Given the description of an element on the screen output the (x, y) to click on. 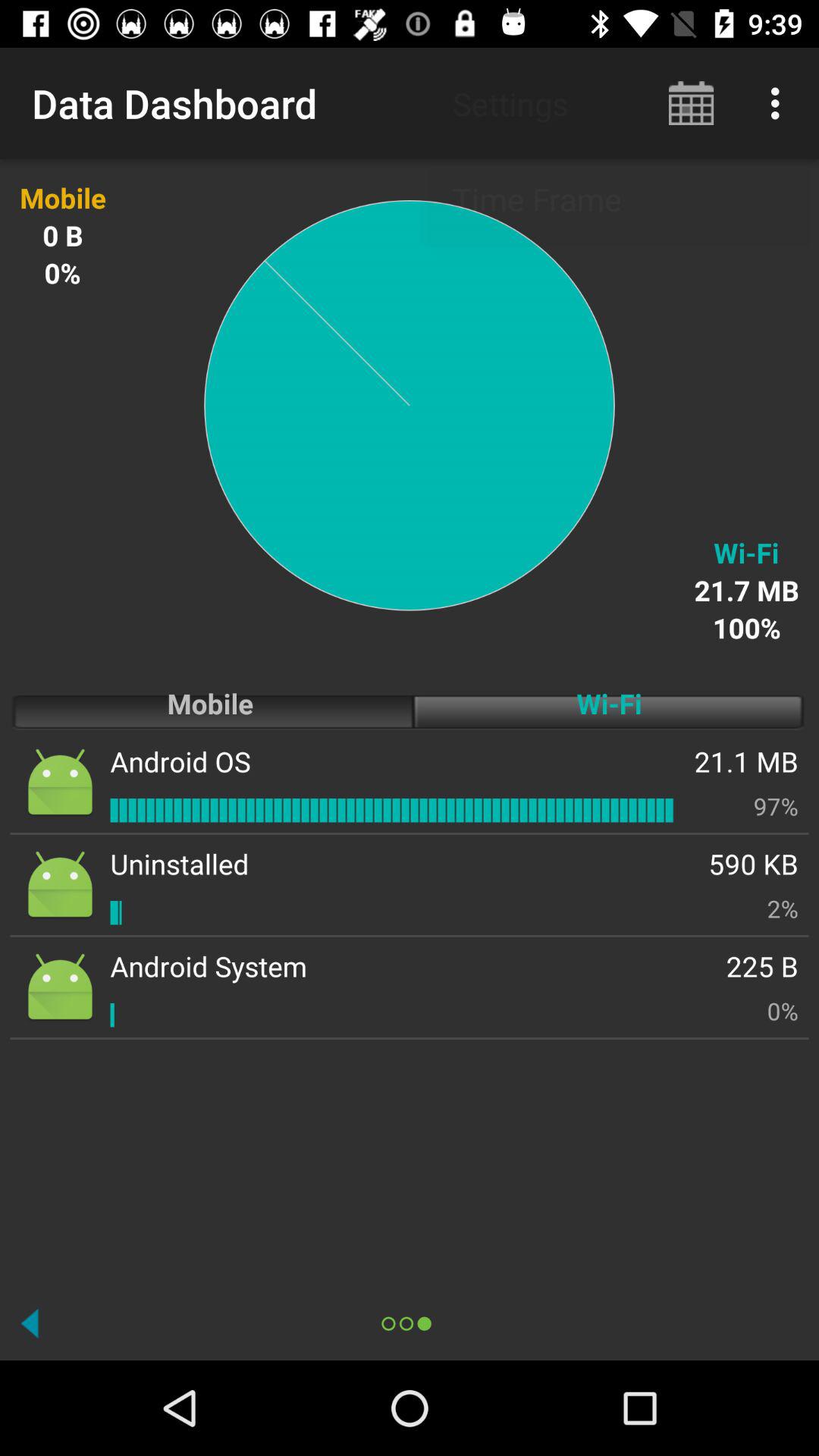
turn off item above 590 kb icon (775, 805)
